Given the description of an element on the screen output the (x, y) to click on. 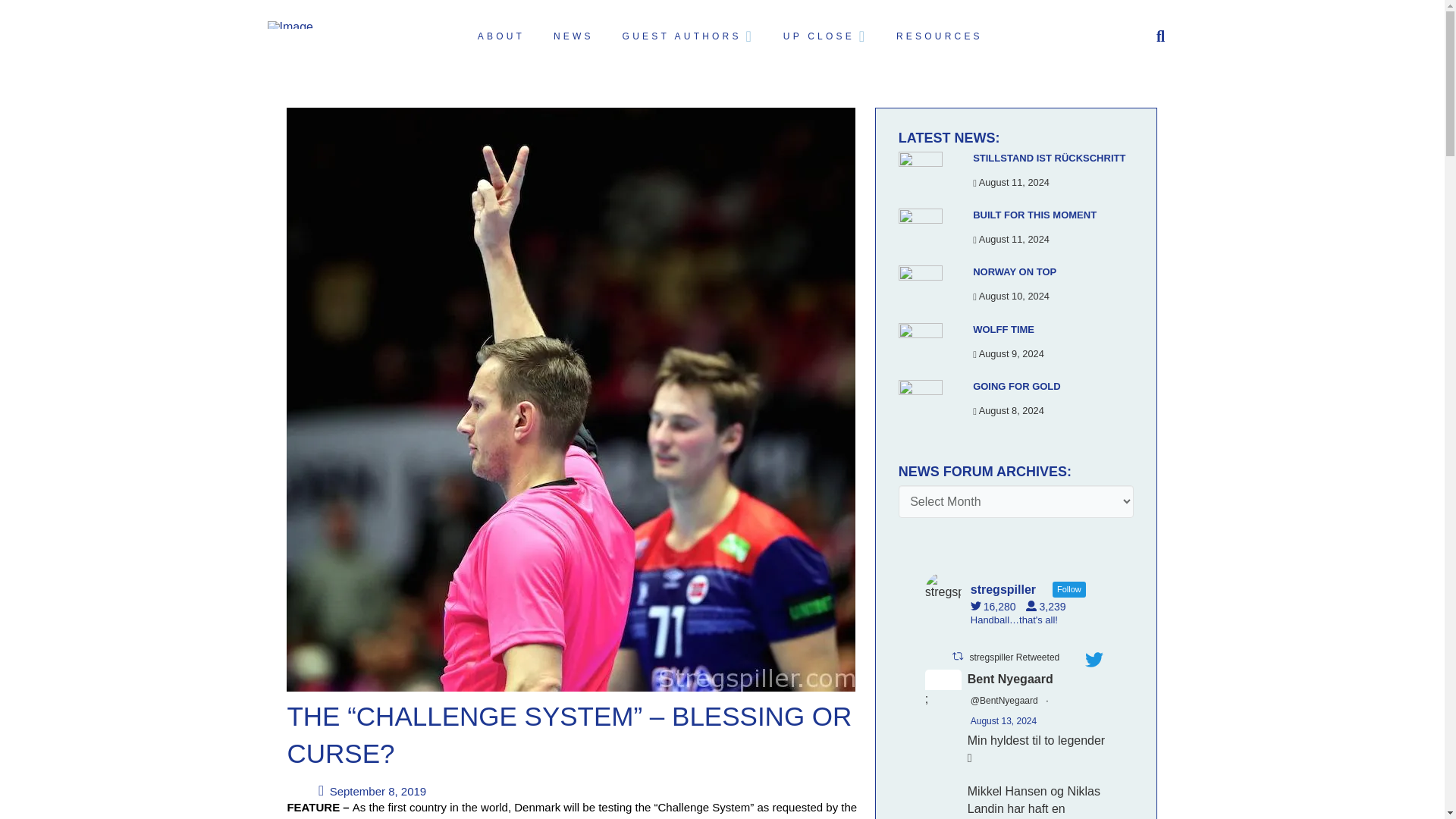
3,239 Followers (1049, 606)
RESOURCES (937, 36)
WOLFF TIME (1002, 328)
NEWS (572, 36)
BUILT FOR THIS MOMENT (1034, 214)
GOING FOR GOLD (1016, 386)
NORWAY ON TOP (1014, 271)
stregspiller Retweeted (1014, 656)
Retweet on Twitter (957, 655)
; (942, 687)
